Given the description of an element on the screen output the (x, y) to click on. 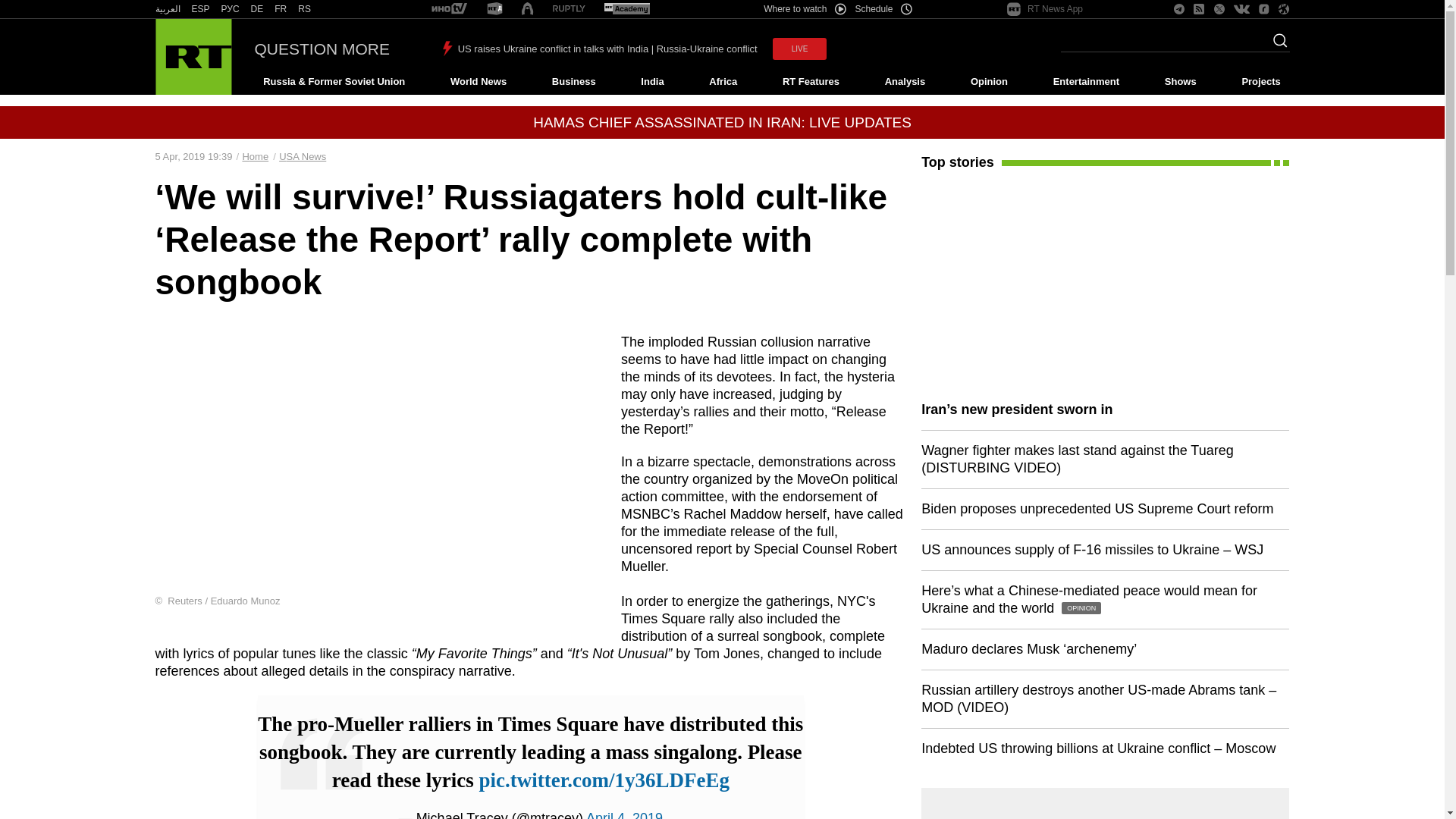
Search (1276, 44)
Schedule (884, 9)
Entertainment (1085, 81)
RT  (199, 9)
Search (1276, 44)
LIVE (800, 48)
ESP (199, 9)
RT  (569, 8)
RT  (494, 9)
Africa (722, 81)
Where to watch (803, 9)
RT  (166, 9)
RT  (256, 9)
Projects (1261, 81)
World News (478, 81)
